Given the description of an element on the screen output the (x, y) to click on. 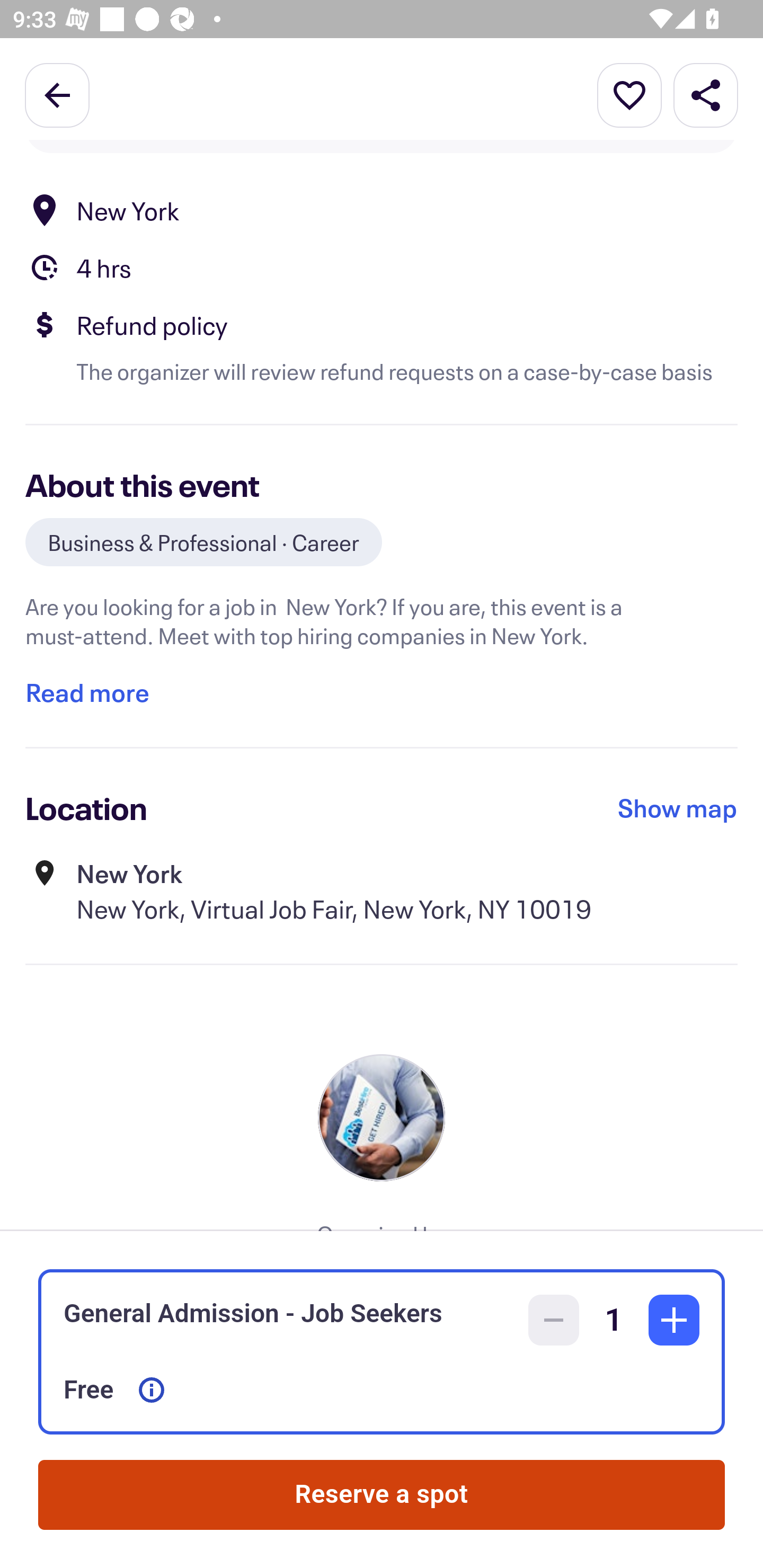
Back (57, 94)
More (629, 94)
Share (705, 94)
Location New York (381, 209)
Read more (87, 691)
Show map (677, 807)
Organizer profile picture (381, 1116)
